Given the description of an element on the screen output the (x, y) to click on. 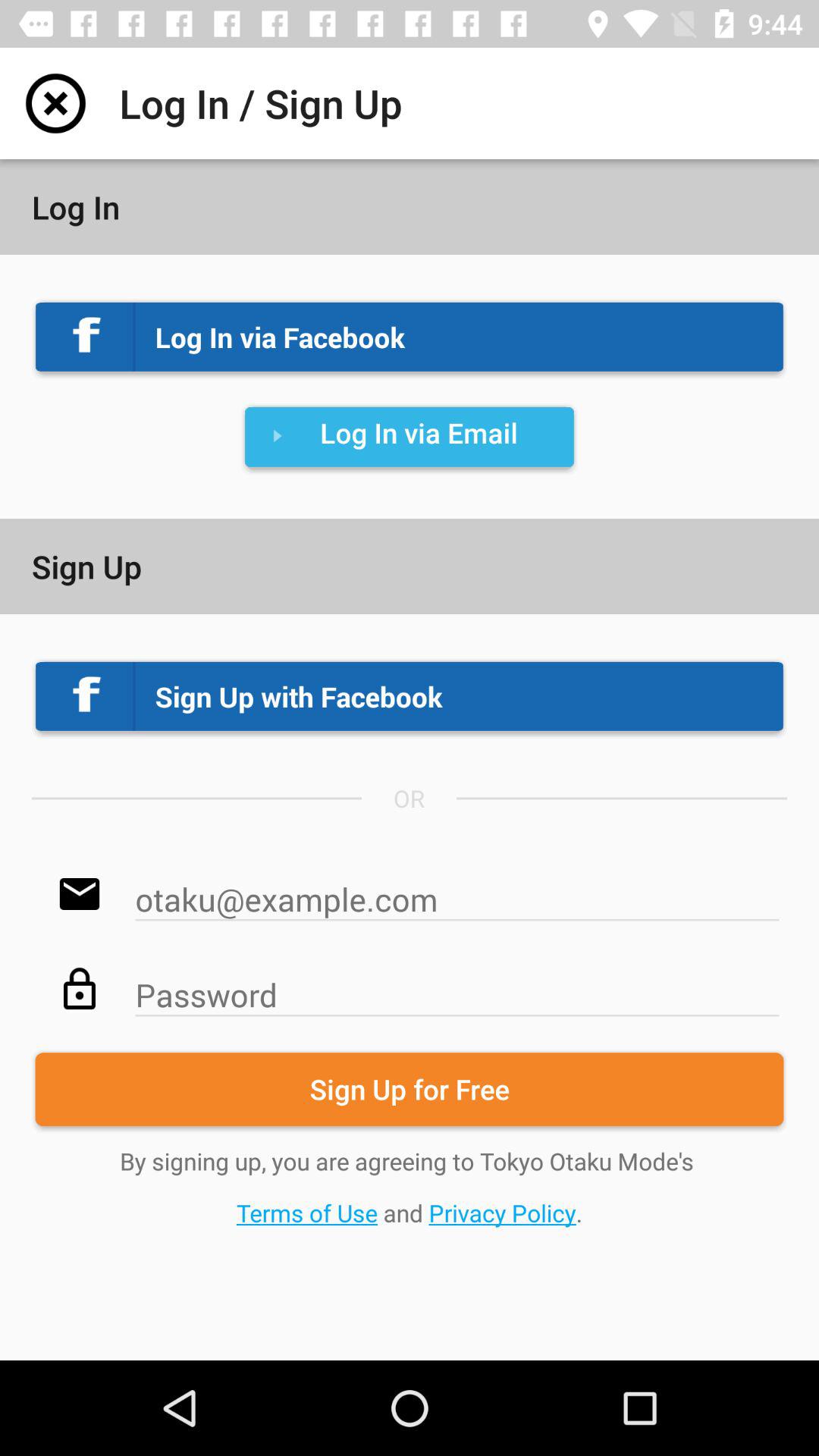
close log in (55, 103)
